Given the description of an element on the screen output the (x, y) to click on. 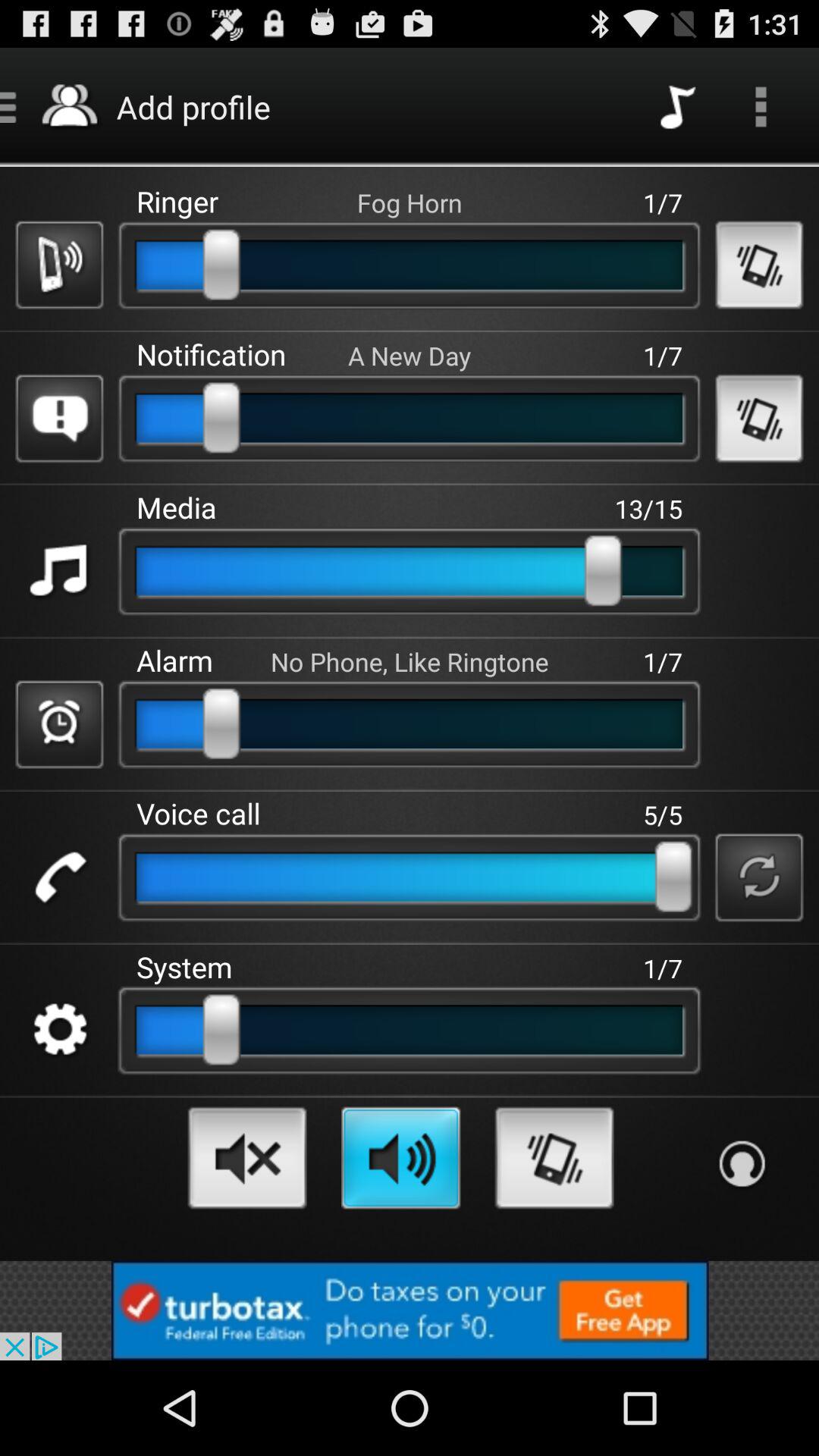
text notification options (59, 418)
